Given the description of an element on the screen output the (x, y) to click on. 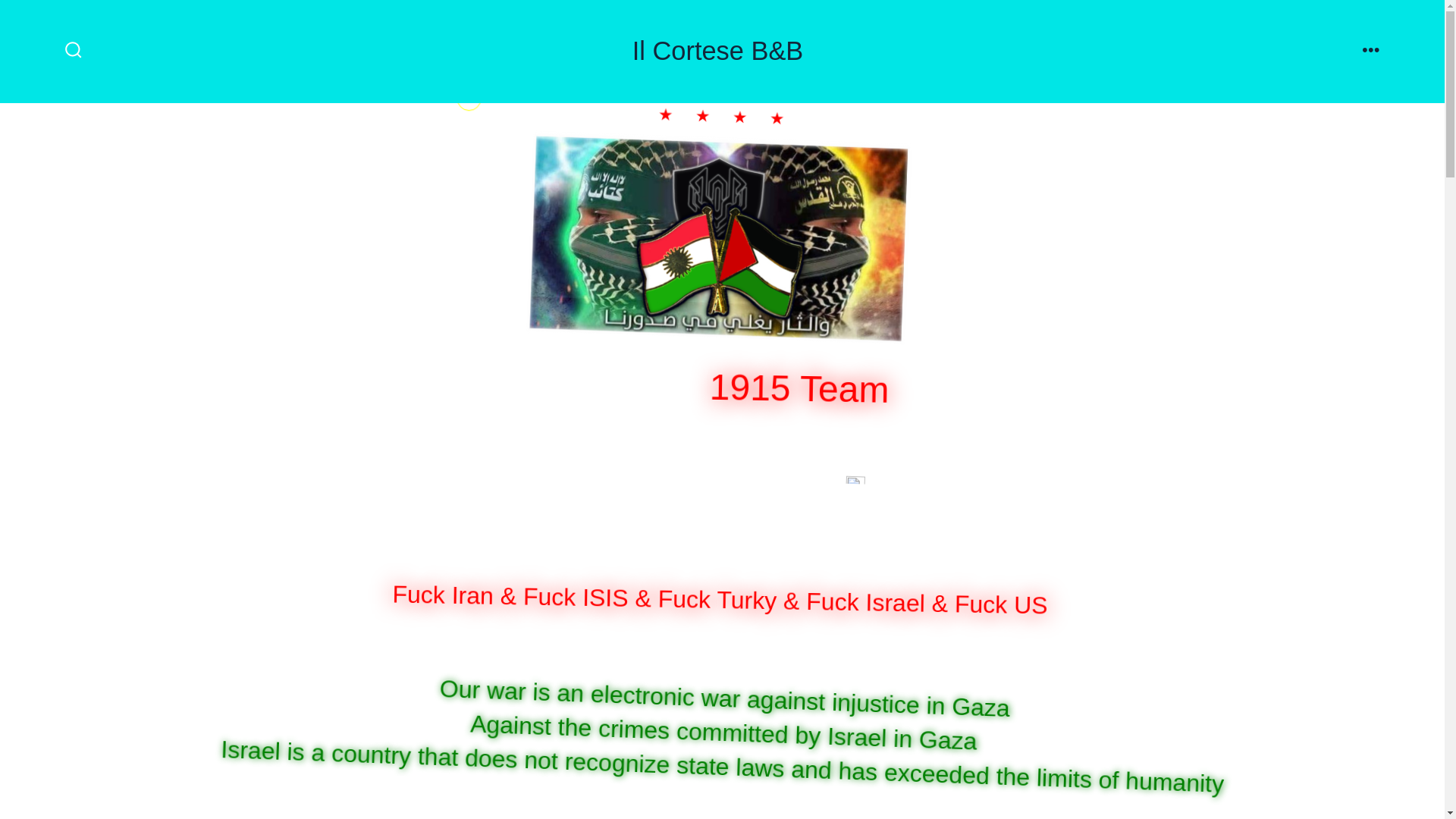
1915 Team (807, 386)
Menu (1371, 50)
Search Toggle (73, 50)
